Given the description of an element on the screen output the (x, y) to click on. 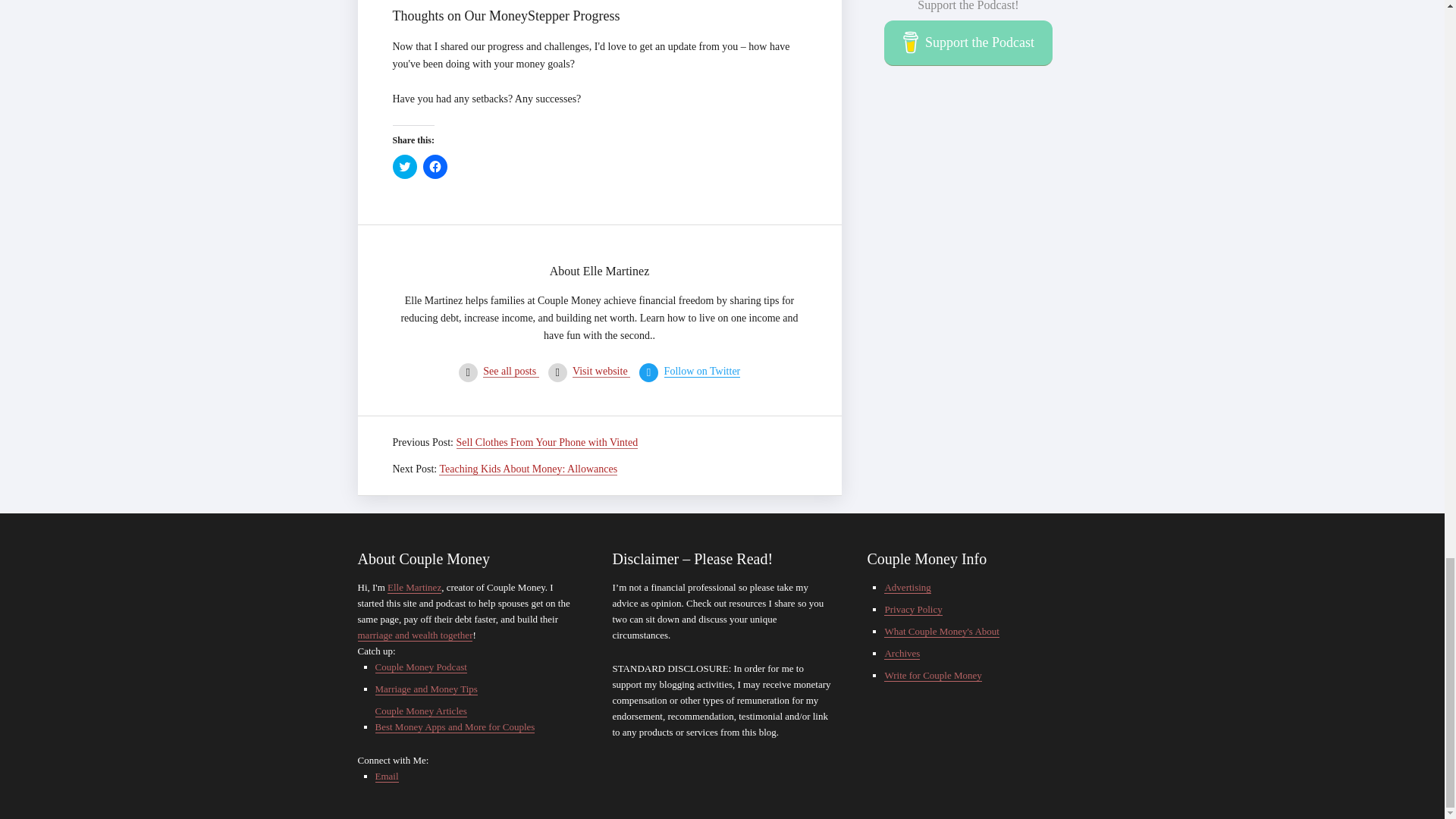
Follow on Twitter (702, 371)
Click to share on Twitter (404, 166)
Sell Clothes From Your Phone with Vinted (548, 442)
Visit website (601, 371)
Click to share on Facebook (434, 166)
See all posts (510, 371)
Teaching Kids About Money: Allowances (528, 469)
